Given the description of an element on the screen output the (x, y) to click on. 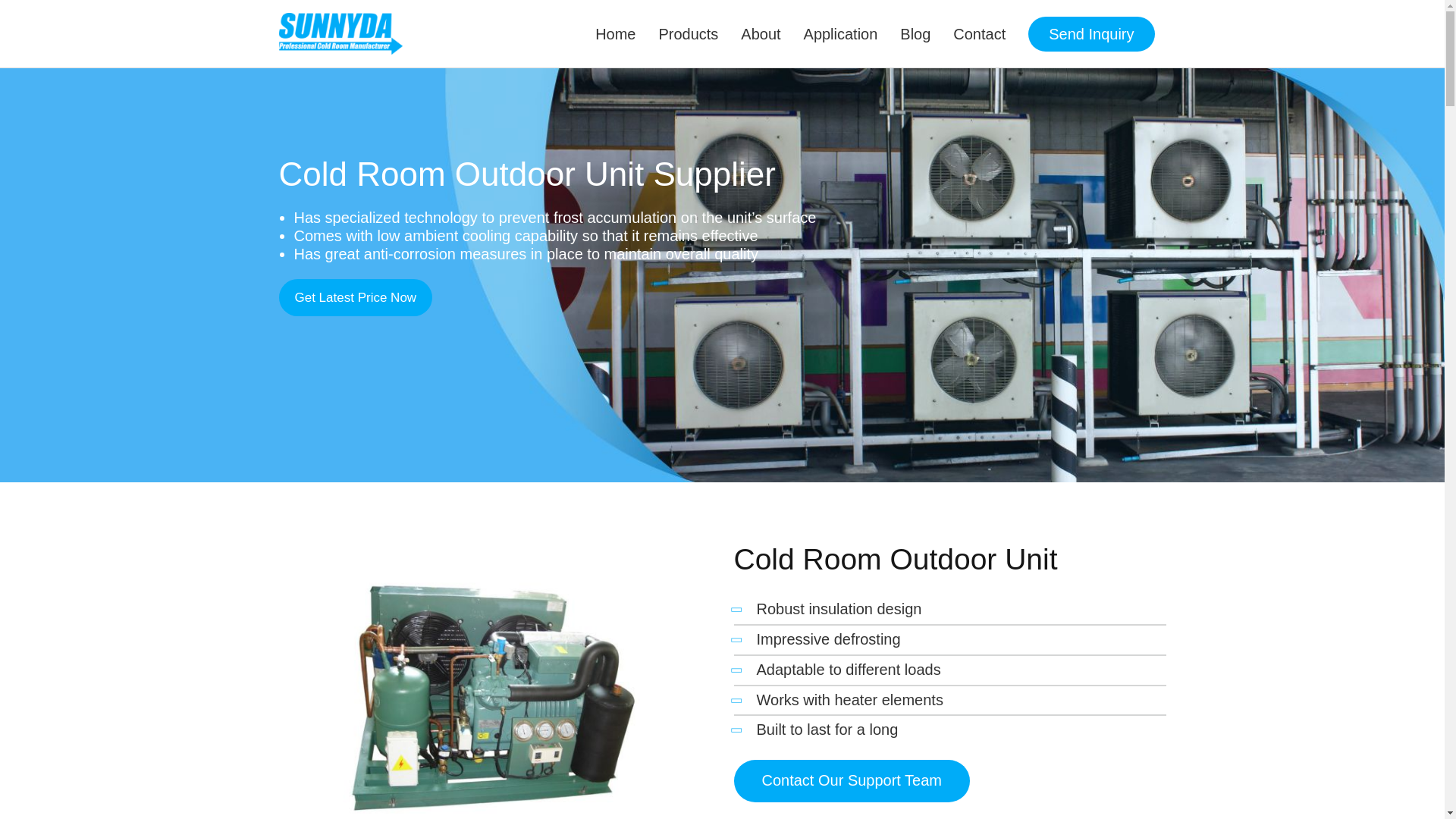
Application (840, 33)
Products (687, 33)
Home (614, 33)
About (760, 33)
